Given the description of an element on the screen output the (x, y) to click on. 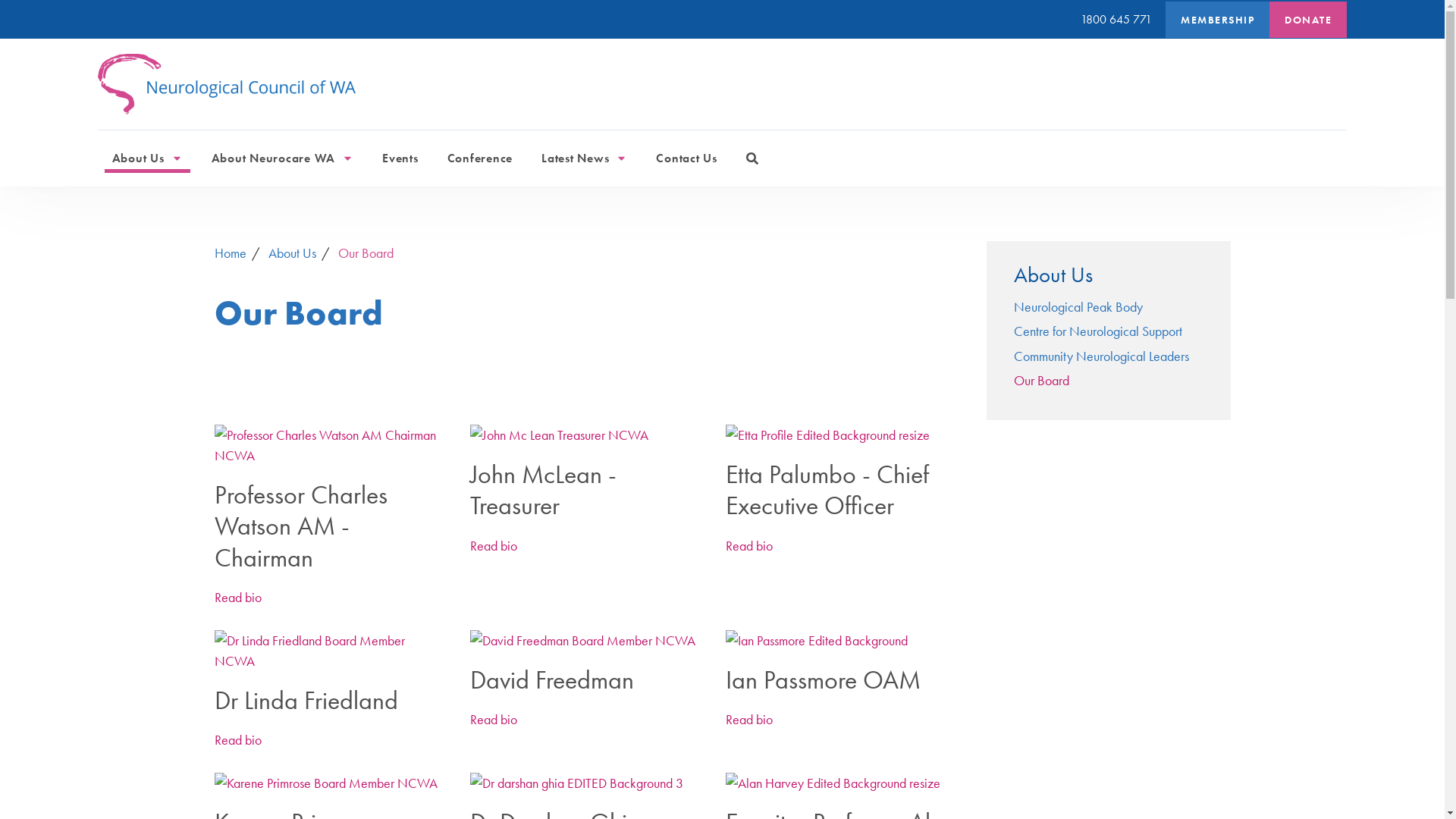
Read bio Element type: text (748, 545)
About Us Element type: text (293, 252)
DONATE Element type: text (1307, 19)
Latest News Element type: text (583, 158)
Neurological Peak Body Element type: text (1077, 306)
Read more:             Ian Passmore OAM
 Element type: hover (841, 640)
Conference Element type: text (479, 158)
About Neurocare WA Element type: text (282, 158)
About Us Element type: text (1115, 270)
Community Neurological Leaders Element type: text (1101, 355)
Home Element type: text (230, 252)
Etta Palumbo - Chief Executive Officer Element type: text (841, 505)
Read more:             Emeritus Professor Alan Harvey
 Element type: hover (841, 782)
Professor Charles Watson AM - Chairman Element type: text (329, 542)
Read bio Element type: text (236, 739)
Read bio Element type: text (493, 719)
1800 645 771 Element type: text (1122, 19)
Ian Passmore OAM Element type: text (841, 696)
Read bio Element type: text (236, 596)
John McLean - Treasurer Element type: text (586, 505)
Centre for Neurological Support Element type: text (1097, 330)
MEMBERSHIP Element type: text (1217, 19)
Read more:             Dr Darshan Ghia
 Element type: hover (586, 782)
Read more:             John McLean - Treasurer
 Element type: hover (586, 434)
Read bio Element type: text (748, 719)
Our Board Element type: text (1041, 380)
David Freedman Element type: text (586, 696)
Contact Us Element type: text (686, 158)
Read more:             David Freedman
 Element type: hover (586, 640)
Read bio Element type: text (493, 545)
Dr Linda Friedland Element type: text (329, 716)
Events Element type: text (400, 158)
Read more:             Dr Linda Friedland
 Element type: hover (329, 650)
Our Board Element type: text (365, 252)
About Us Element type: text (147, 158)
Read more:             Karene Primrose
 Element type: hover (329, 782)
